Given the description of an element on the screen output the (x, y) to click on. 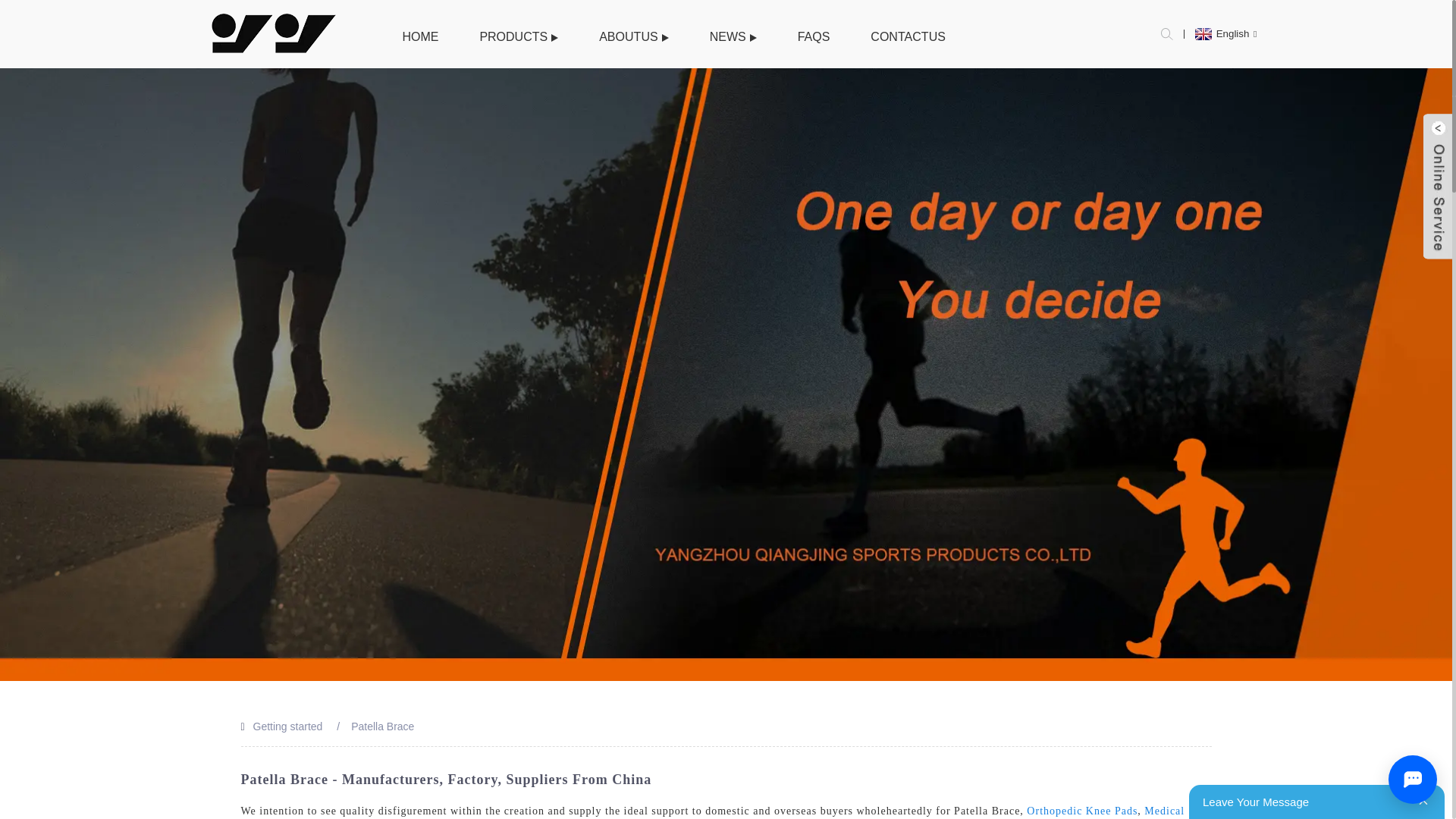
Medical Knee Brace (713, 812)
ABOUT US (633, 36)
Orthopedic Knee Pads (1081, 810)
PRODUCTS (518, 36)
CONTACT US (908, 36)
